Given the description of an element on the screen output the (x, y) to click on. 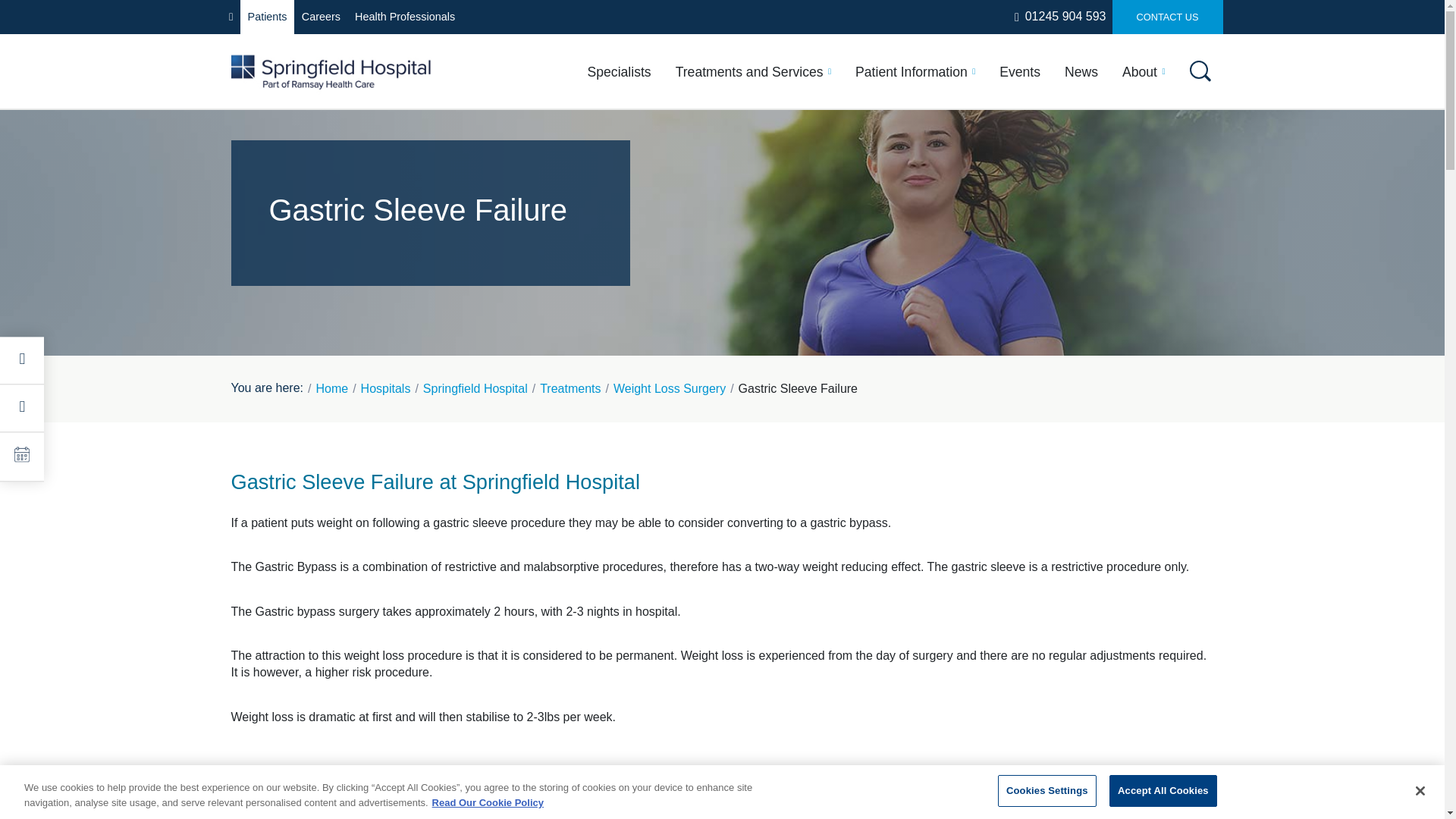
Careers (320, 17)
Treatments and Services (753, 71)
Hernia Surgery (686, 263)
Physiotherapy (486, 313)
Pain Management (326, 313)
Ultrasound (1041, 281)
Cataract Surgery (495, 185)
CONTACT US (1167, 17)
One Stop Rapid Breast Clinic (730, 347)
Weight Loss Surgery (333, 346)
Mammography (1053, 313)
Knee Replacement (892, 291)
Womens Health (491, 346)
X-Ray (1026, 185)
Spinal Unit (866, 347)
